Given the description of an element on the screen output the (x, y) to click on. 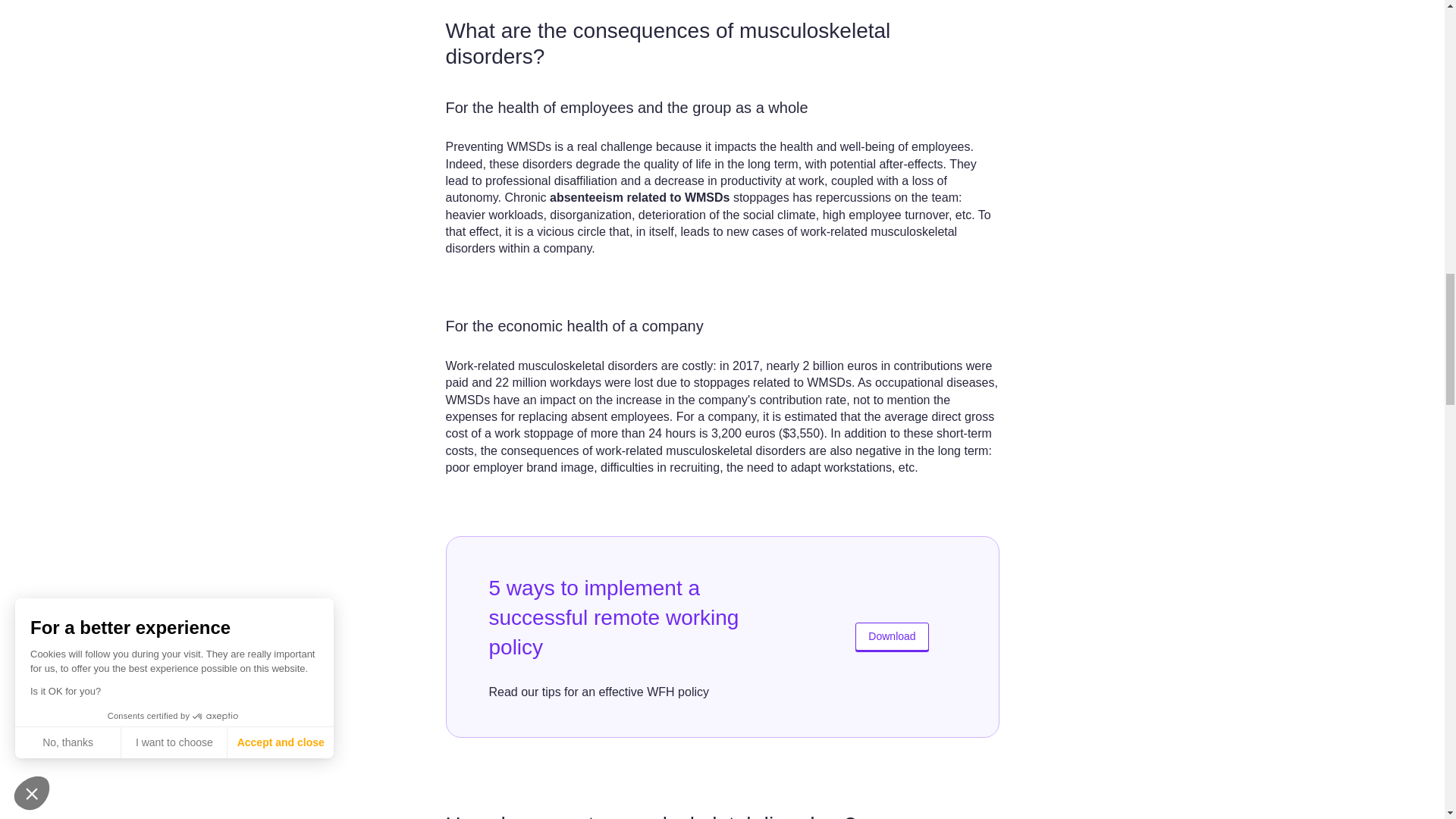
Download (892, 636)
Download (892, 636)
